Given the description of an element on the screen output the (x, y) to click on. 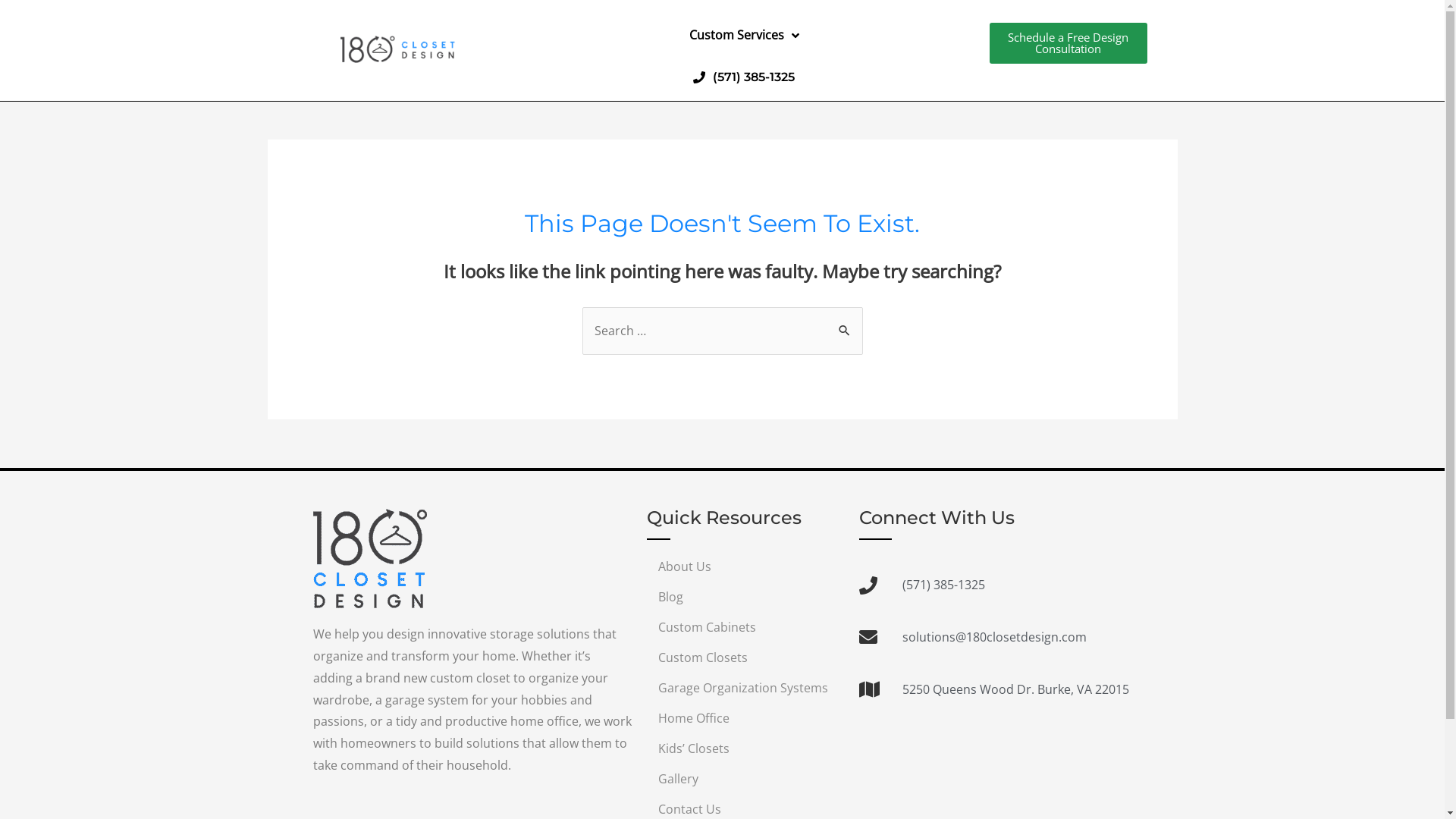
About Us Element type: text (744, 566)
Schedule a Free Design Consultation Element type: text (1067, 42)
(571) 385-1325 Element type: text (743, 77)
Gallery Element type: text (744, 778)
(571) 385-1325 Element type: text (994, 585)
Custom Closets Element type: text (744, 657)
Garage Organization Systems Element type: text (744, 687)
Search Element type: text (845, 325)
Blog Element type: text (744, 596)
5250 Queens Wood Dr. Burke, VA 22015 Element type: text (994, 689)
Custom Services Element type: text (743, 35)
Custom Cabinets Element type: text (744, 626)
Home Office Element type: text (744, 717)
solutions@180closetdesign.com Element type: text (994, 637)
